Given the description of an element on the screen output the (x, y) to click on. 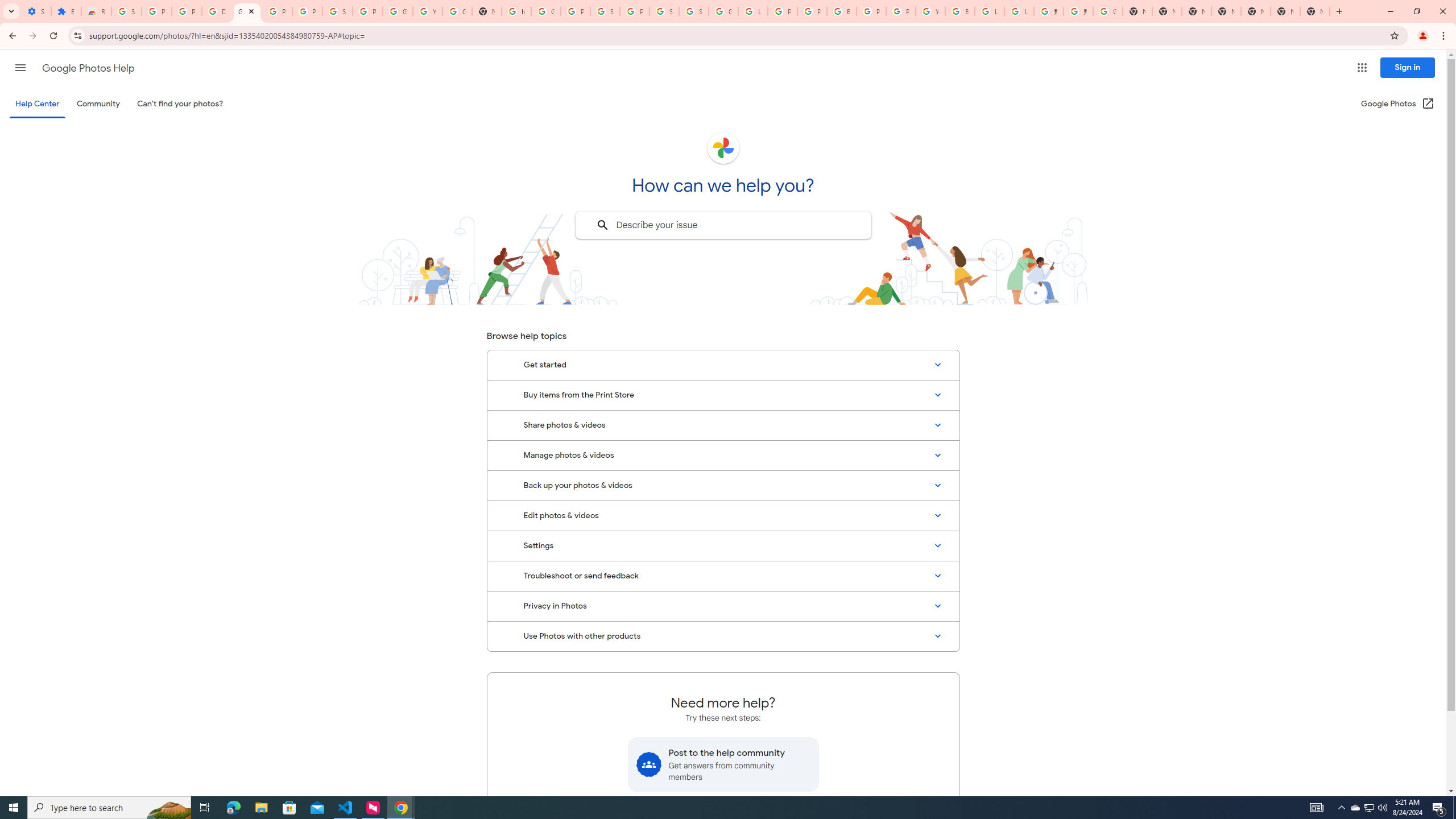
Get started (722, 365)
YouTube (930, 11)
Google Photos Help (247, 11)
Share photos & videos (722, 425)
Back up your photos & videos (722, 485)
